Given the description of an element on the screen output the (x, y) to click on. 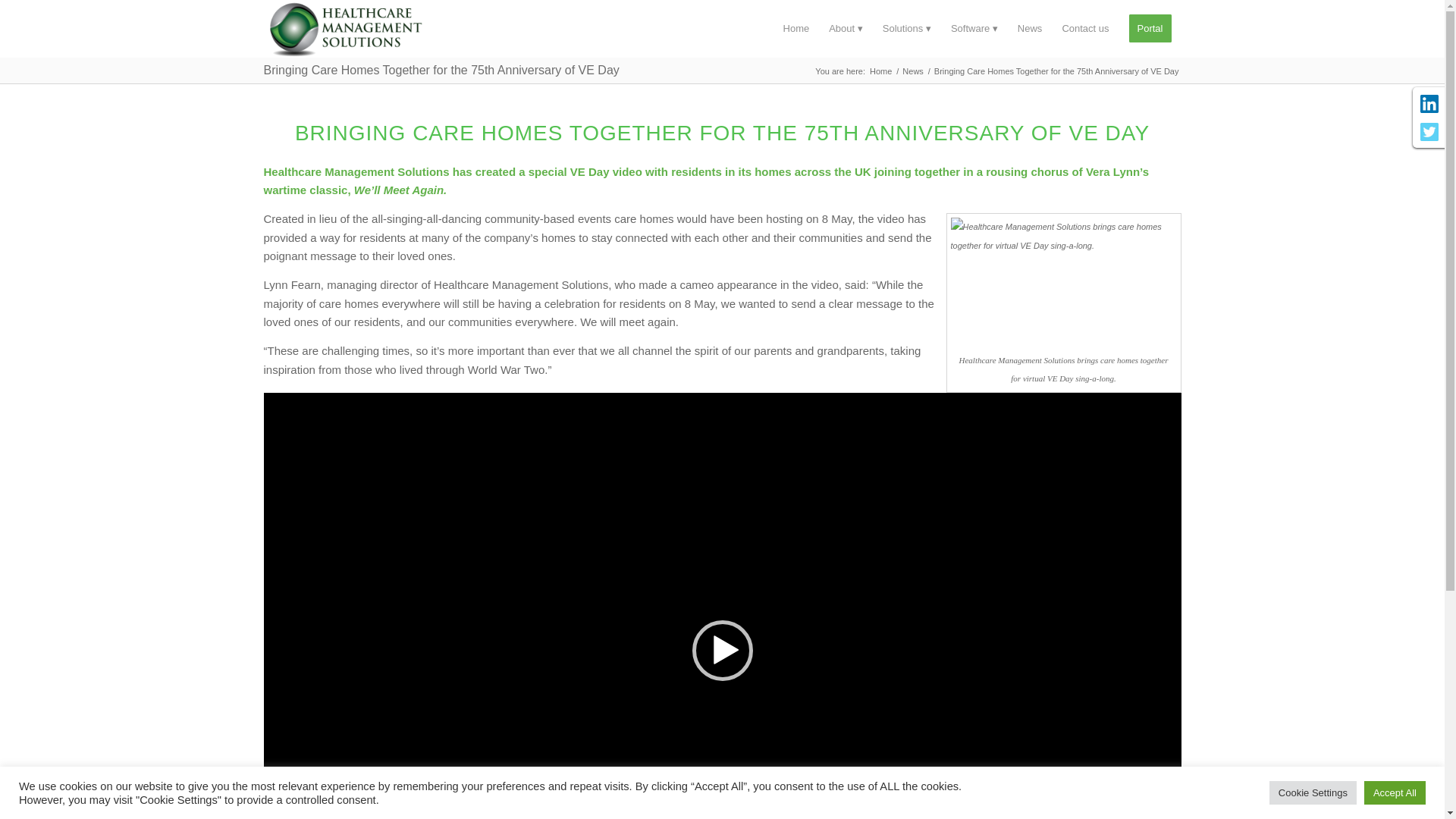
Solutions (906, 28)
News (912, 71)
News (1029, 28)
Healthcare Management Solutions Twitter (1429, 134)
Homepage (796, 28)
Home (796, 28)
Software (973, 28)
Portal (1149, 28)
About (845, 28)
Healthcare Management Solutions LinkedIn (1429, 106)
Home (880, 71)
Contact us (1084, 28)
Healthcare Management Solutions (880, 71)
